Given the description of an element on the screen output the (x, y) to click on. 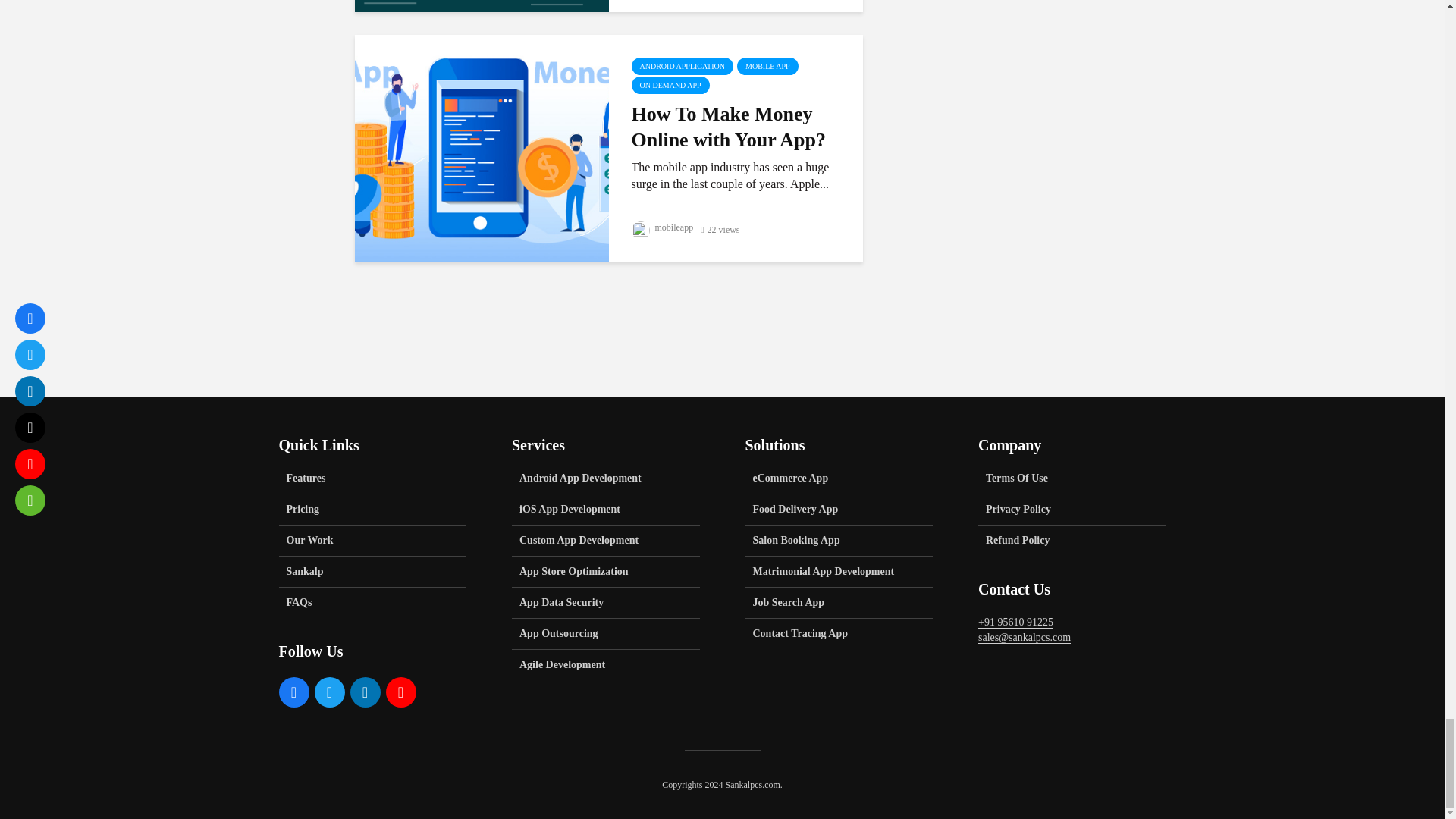
Facebook (293, 692)
Linkedin (365, 692)
Twitter (328, 692)
Youtube (399, 692)
How To Make Money Online with Your App? (481, 146)
